Given the description of an element on the screen output the (x, y) to click on. 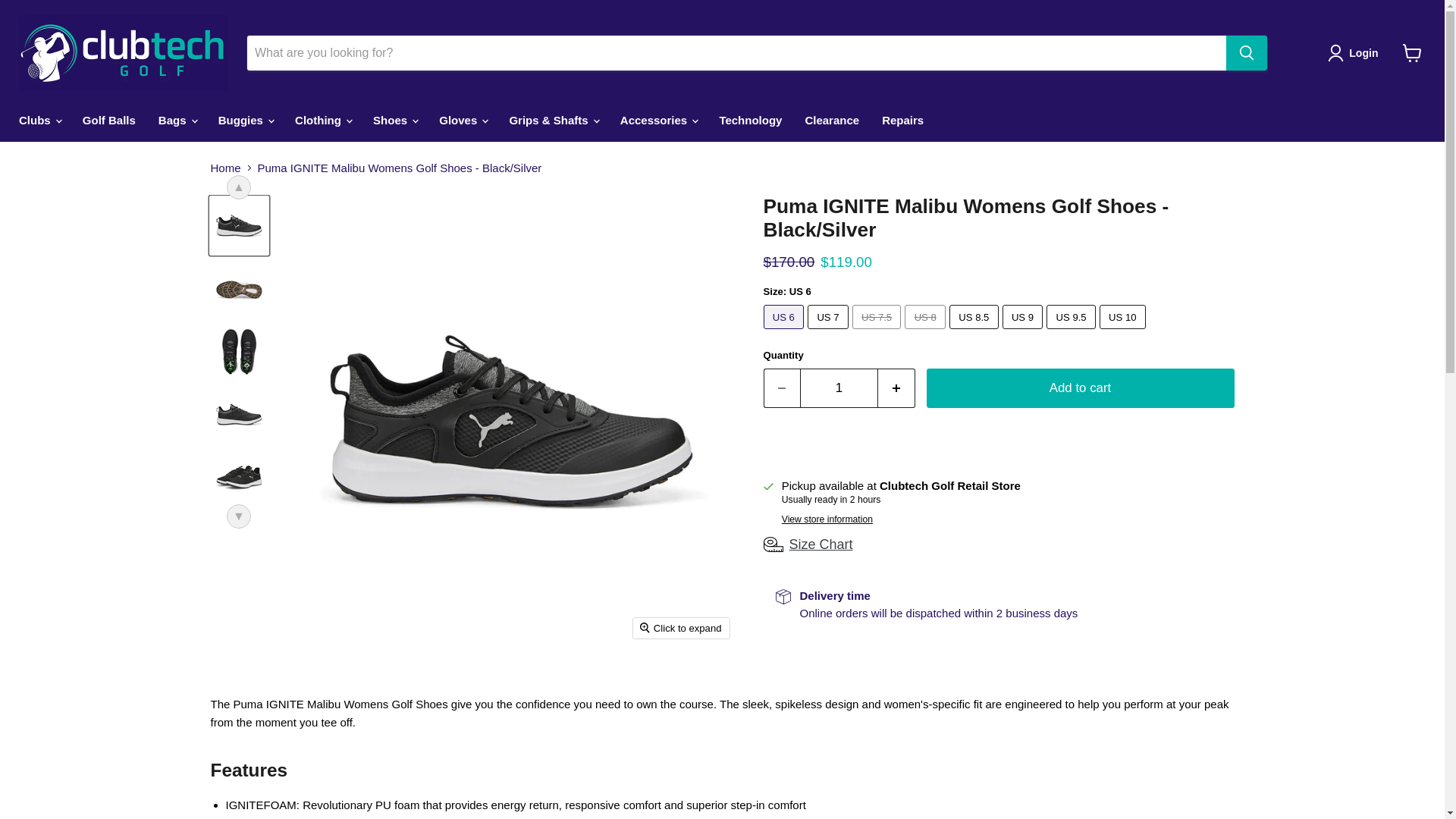
1 (838, 387)
Login (1355, 53)
View cart (1411, 52)
Golf Balls (109, 119)
